Given the description of an element on the screen output the (x, y) to click on. 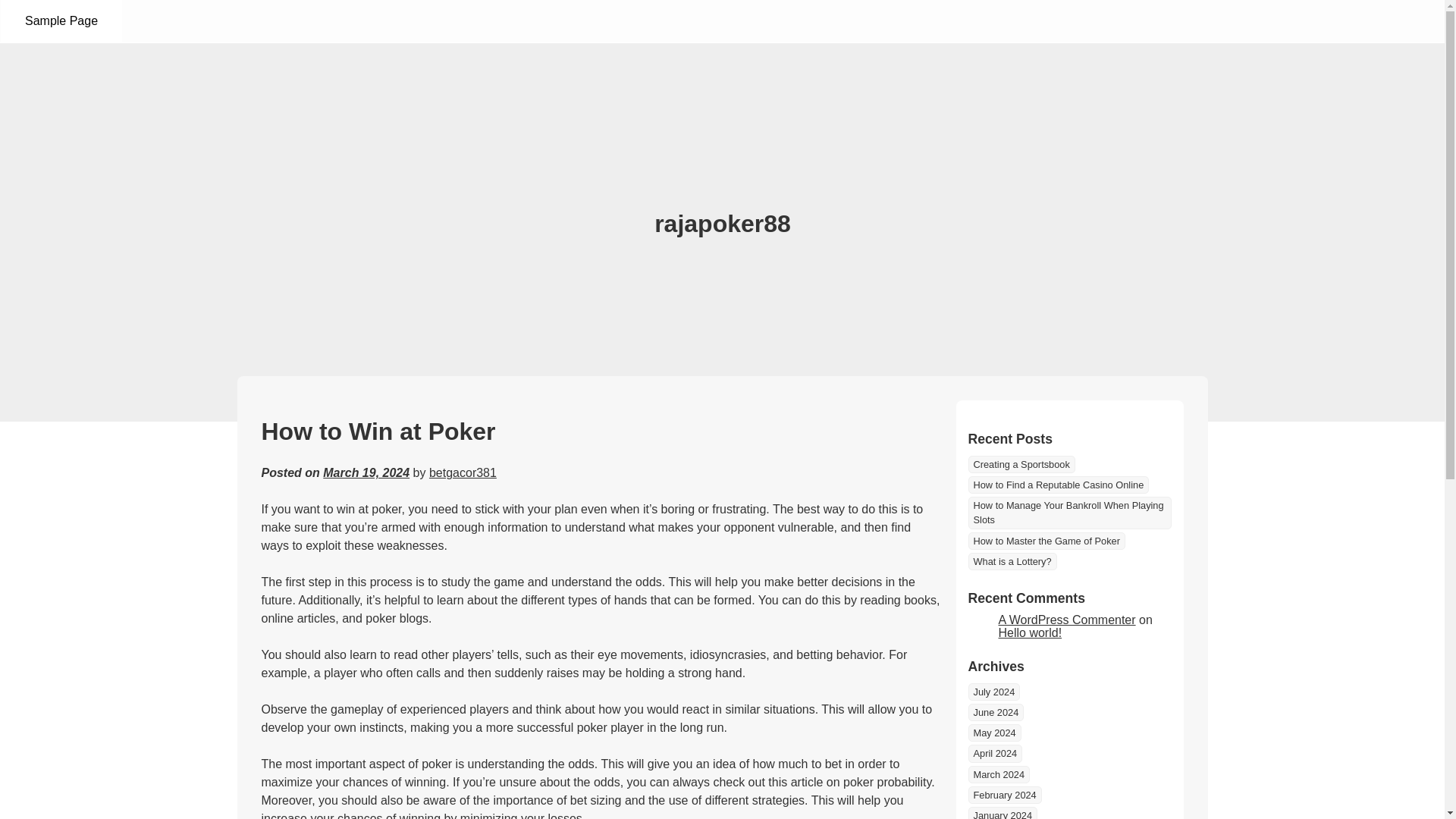
A WordPress Commenter (1066, 619)
betgacor381 (462, 472)
April 2024 (995, 753)
Hello world! (1029, 632)
Sample Page (61, 21)
How to Manage Your Bankroll When Playing Slots (1069, 512)
How to Master the Game of Poker (1046, 540)
May 2024 (994, 732)
February 2024 (1004, 794)
March 19, 2024 (366, 472)
March 2024 (998, 773)
Creating a Sportsbook (1021, 464)
What is a Lottery? (1012, 561)
July 2024 (994, 692)
January 2024 (1002, 812)
